Given the description of an element on the screen output the (x, y) to click on. 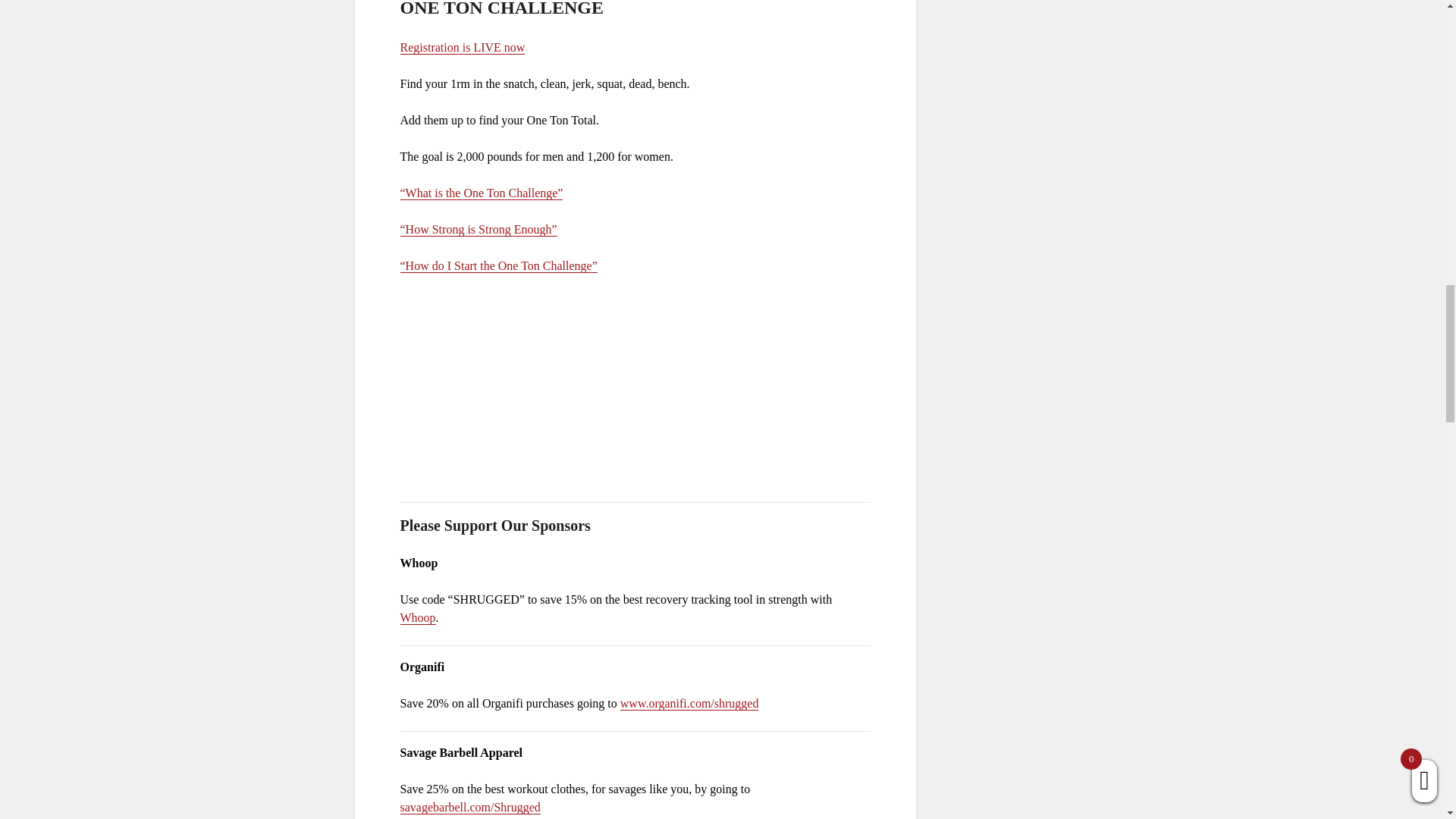
Whoop (417, 617)
Registration is LIVE now (462, 47)
